Given the description of an element on the screen output the (x, y) to click on. 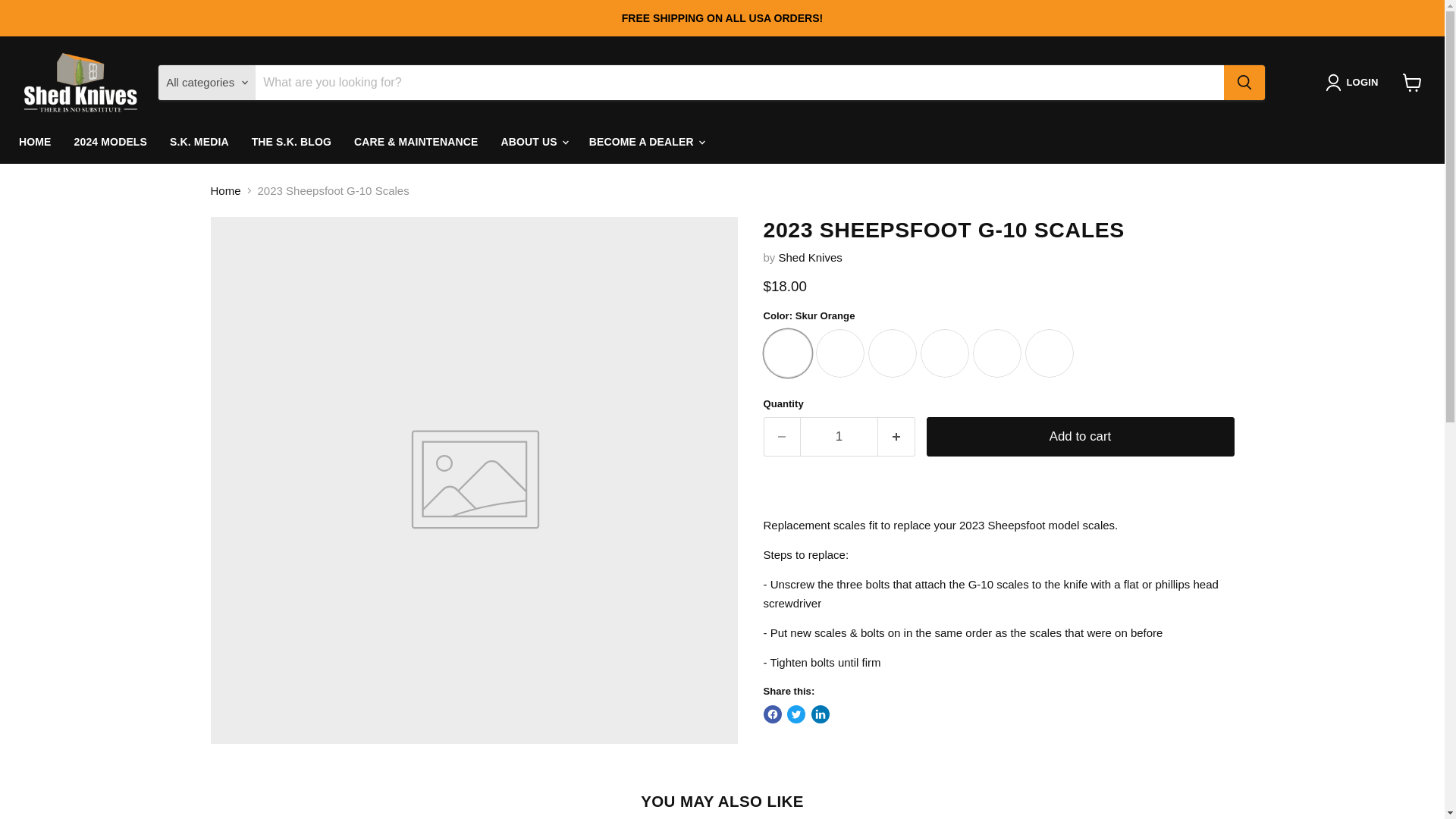
HOME (34, 142)
Home (226, 189)
2024 MODELS (110, 142)
Shed Knives (810, 256)
LOGIN (1354, 82)
S.K. MEDIA (199, 142)
1 (838, 435)
THE S.K. BLOG (291, 142)
View cart (1411, 82)
